Given the description of an element on the screen output the (x, y) to click on. 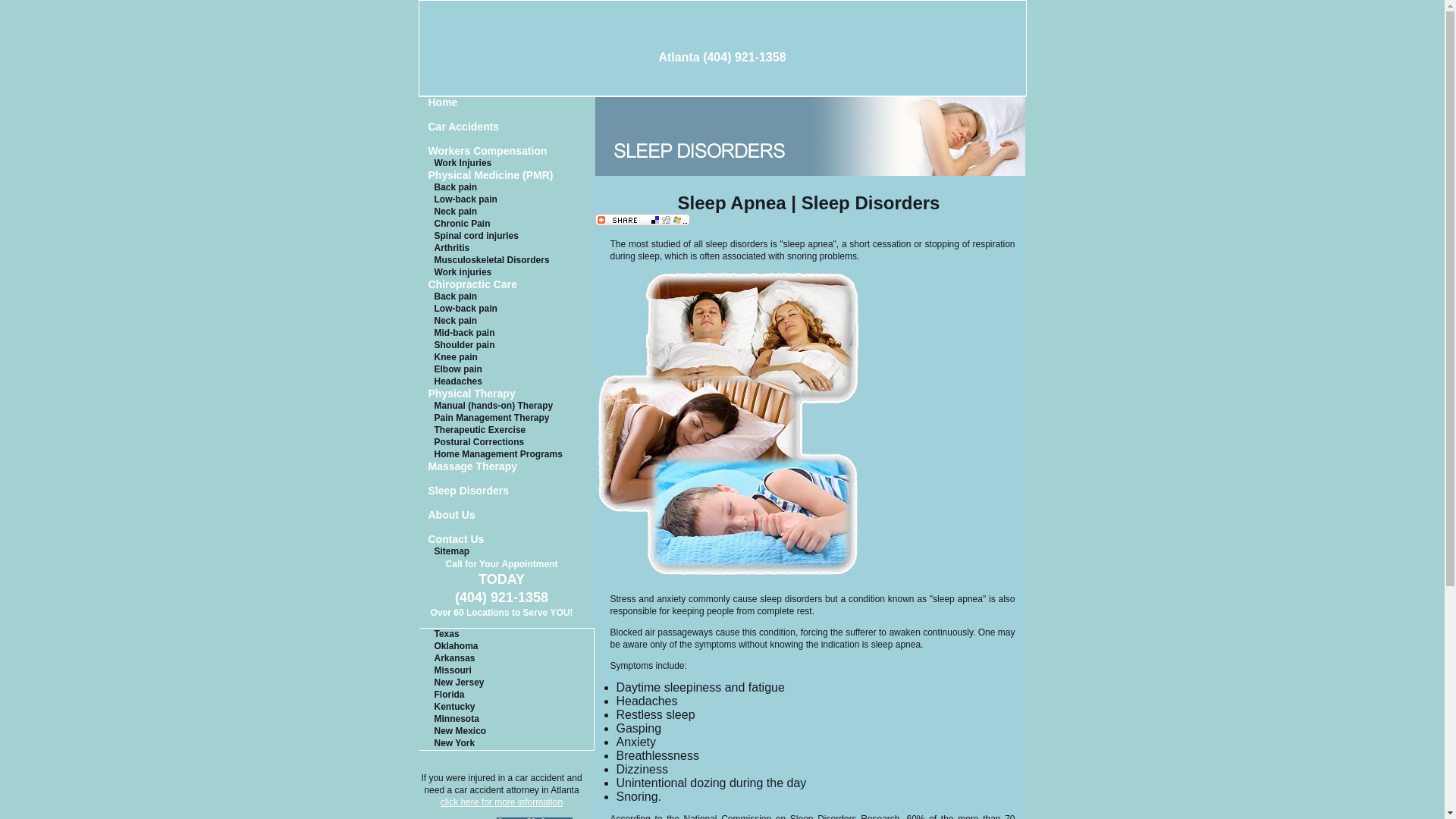
Pain Management Therapy (506, 418)
Work Injuries (506, 163)
Low-back pain (506, 200)
Sitemap (506, 551)
Headaches (506, 381)
Home (506, 103)
Workers Compensation (506, 151)
Musculoskeletal Disorders (506, 260)
Neck pain (506, 321)
Contact Us (506, 540)
Shoulder pain (506, 345)
Therapeutic Exercise (506, 430)
Physical Therapy (506, 395)
